Given the description of an element on the screen output the (x, y) to click on. 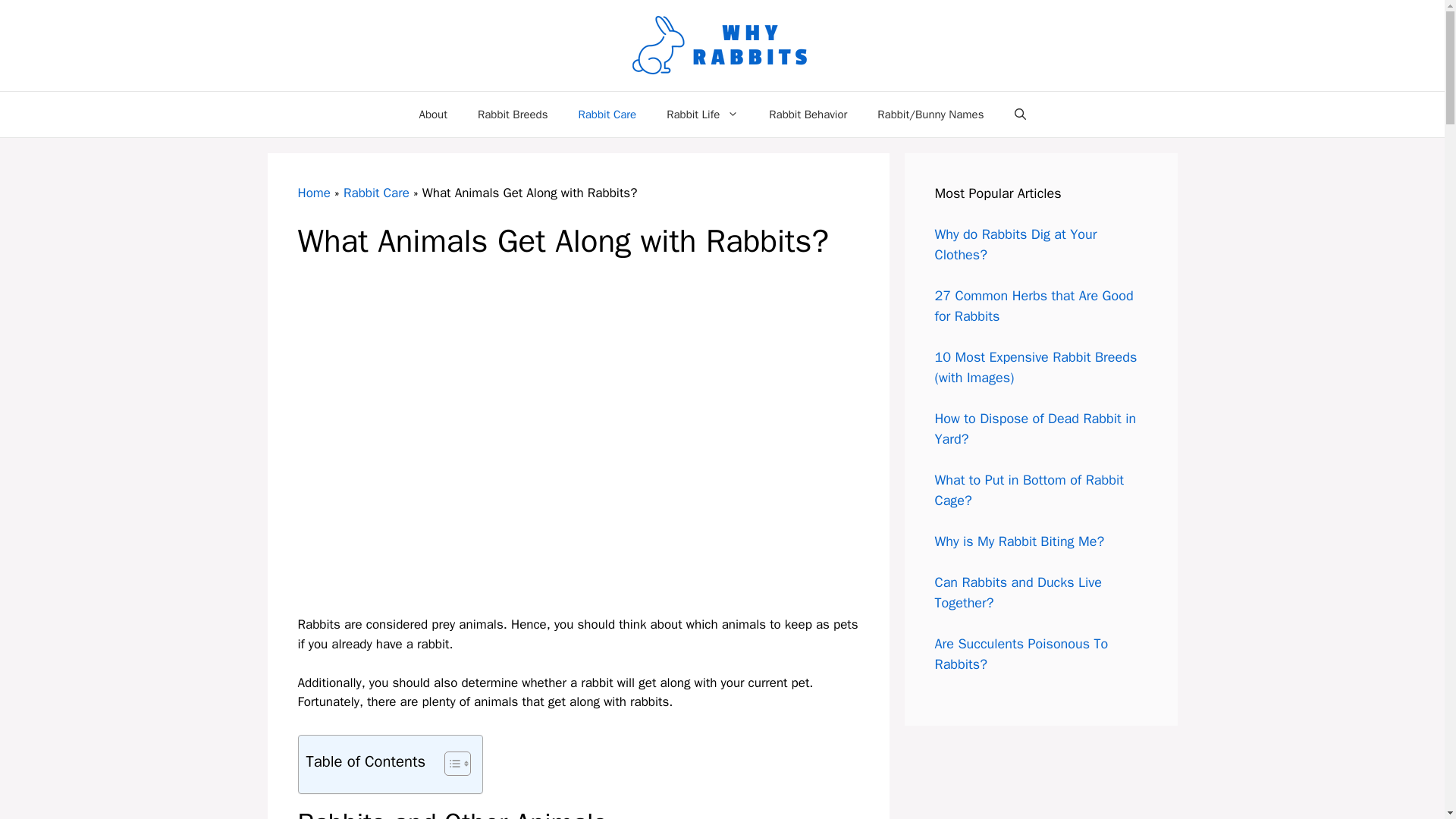
Rabbit Care (606, 114)
Rabbit Behavior (807, 114)
About (432, 114)
Home (313, 192)
Rabbit Care (376, 192)
Rabbit Breeds (513, 114)
27 Common Herbs that Are Good for Rabbits (1033, 305)
Rabbit Life (702, 114)
Why do Rabbits Dig at Your Clothes? (1015, 244)
